Given the description of an element on the screen output the (x, y) to click on. 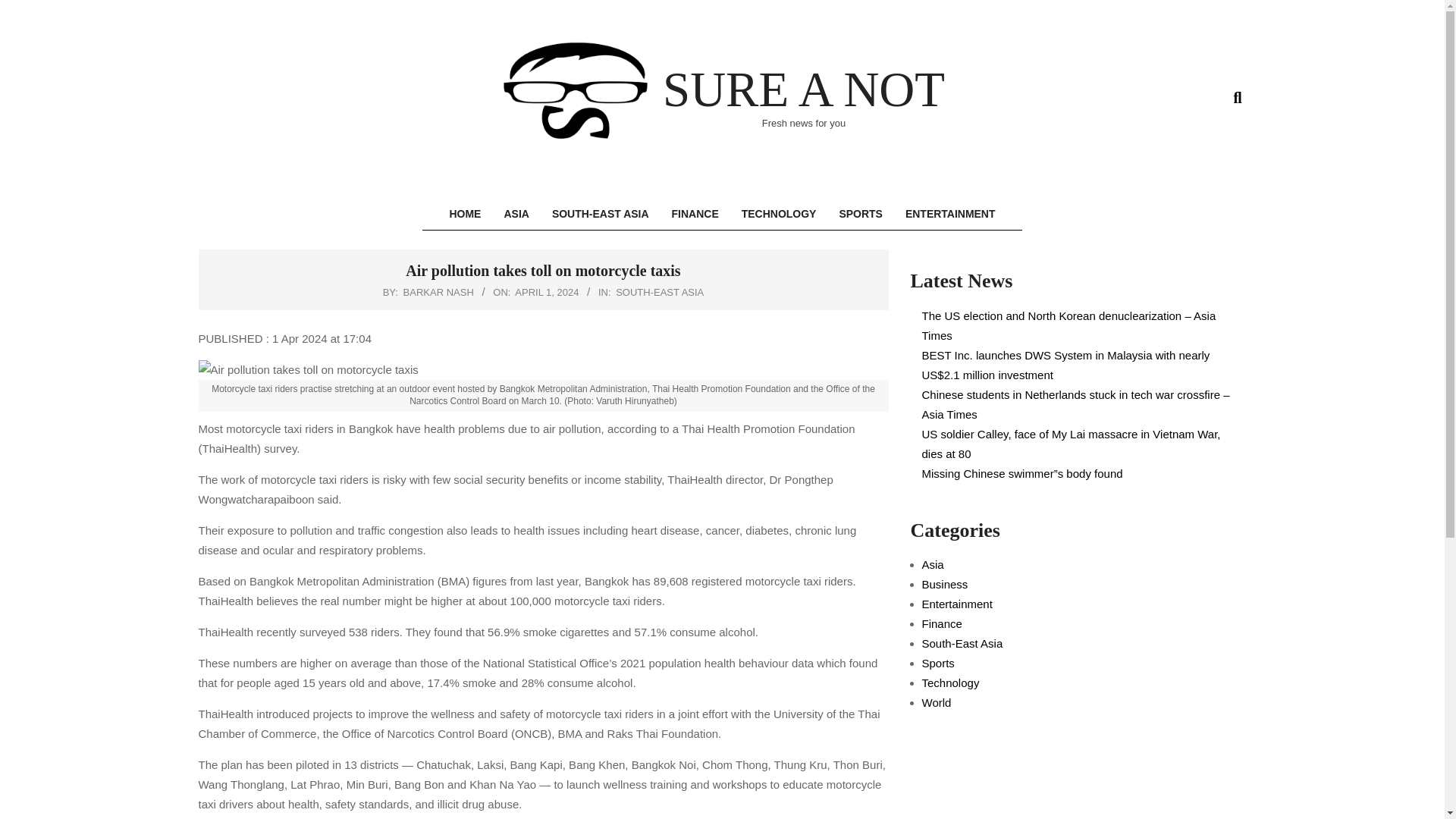
Monday, April 1, 2024, 10:06 am (546, 292)
ASIA (516, 214)
Technology (950, 682)
Entertainment (956, 603)
ENTERTAINMENT (950, 214)
Asia (932, 563)
SOUTH-EAST ASIA (600, 214)
South-East Asia (962, 643)
HOME (465, 214)
Sports (938, 662)
Finance (941, 623)
Business (944, 584)
Posts by Barkar Nash (438, 292)
Search (24, 9)
